Given the description of an element on the screen output the (x, y) to click on. 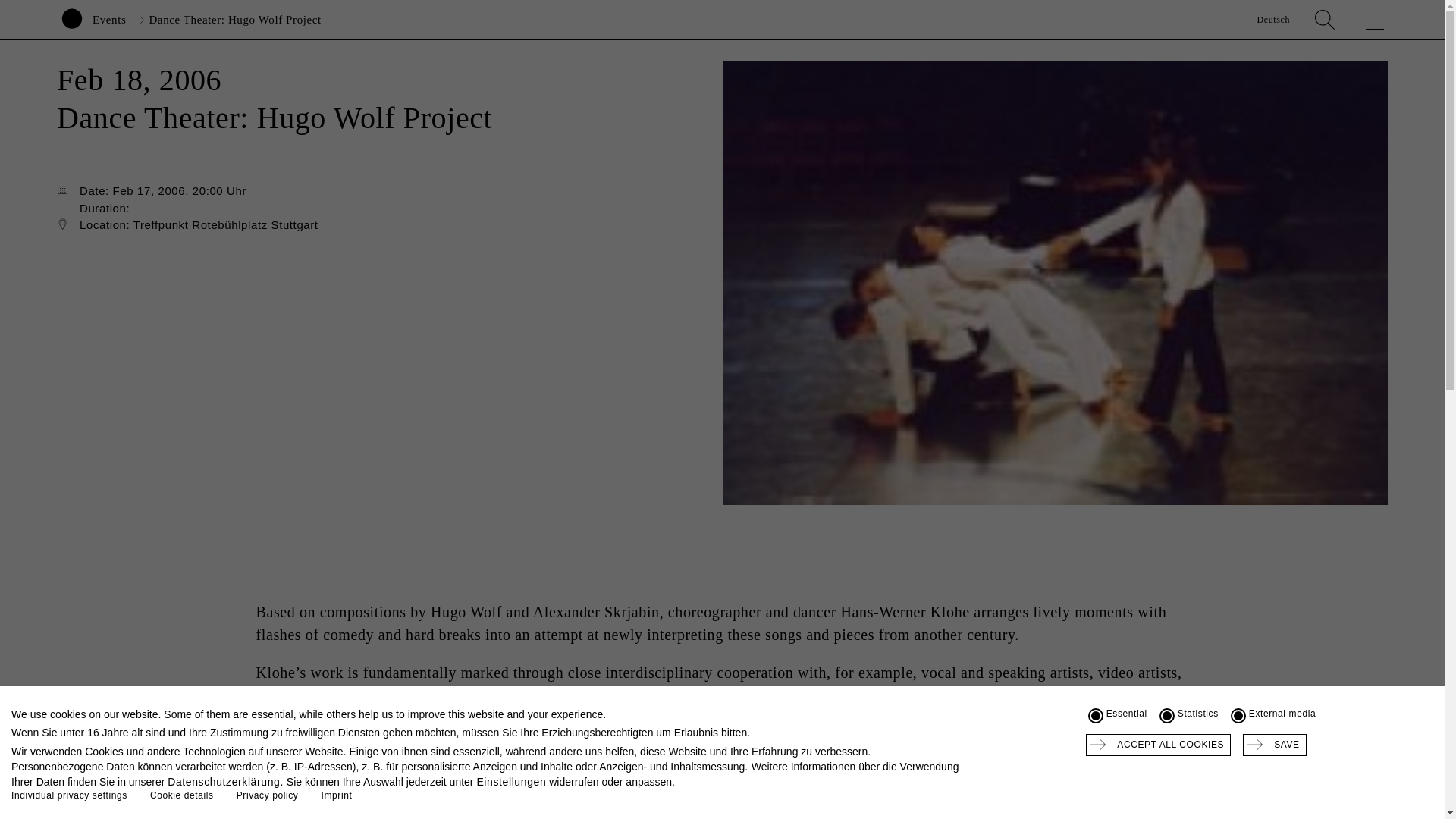
Dance Theater: Hugo Wolf Project (234, 19)
Search (1323, 19)
Events (109, 19)
